Given the description of an element on the screen output the (x, y) to click on. 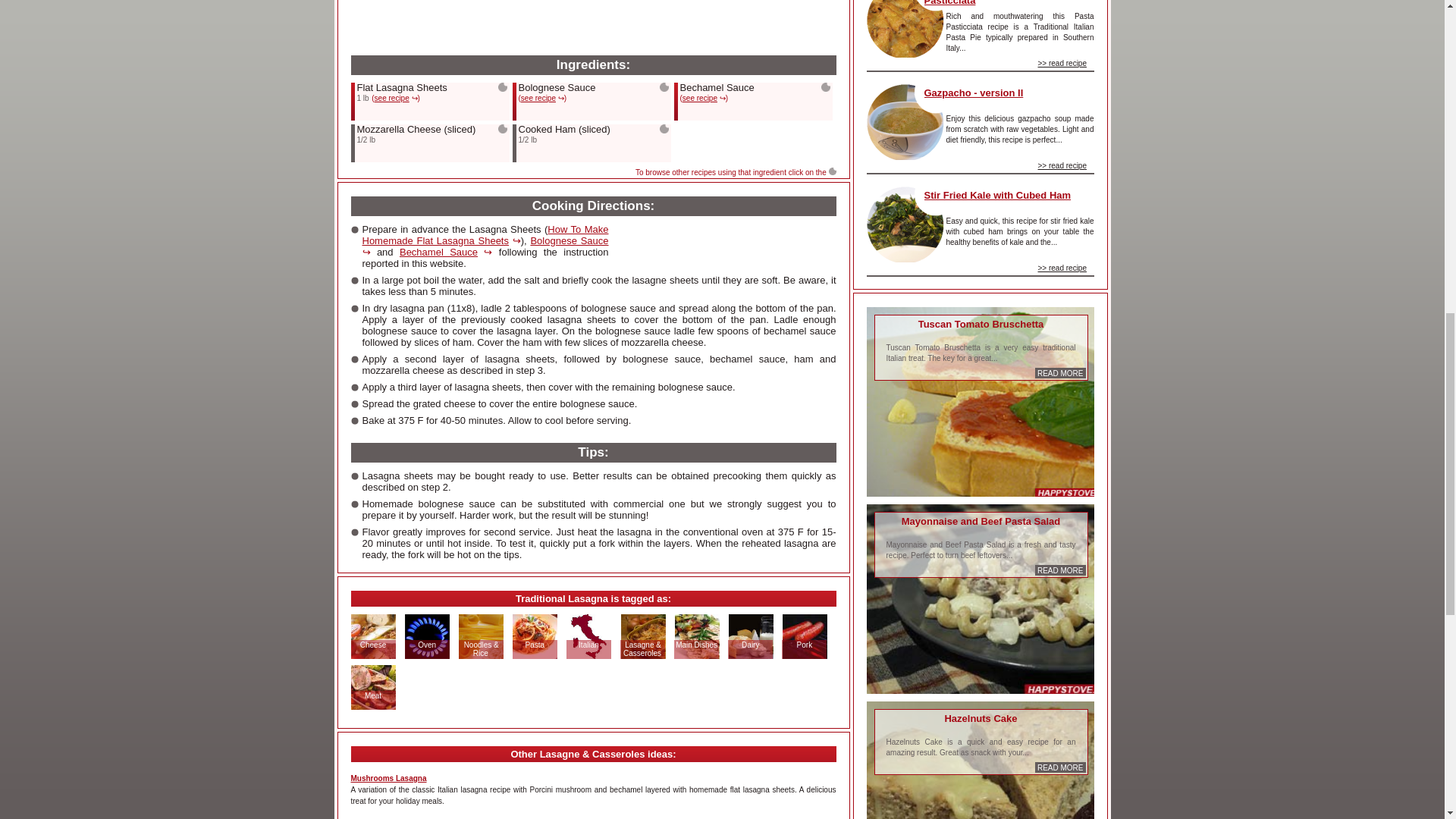
Italian (588, 644)
Pasta (535, 644)
Main Dishes (696, 644)
Recipe for Bolognese Sauce (542, 97)
Dairy (750, 644)
Advertisement (464, 14)
Recipe for Flat Lasagna Sheets (394, 97)
Oven (426, 644)
Recipe for Bechamel Sauce (703, 97)
Cheese (373, 644)
